Given the description of an element on the screen output the (x, y) to click on. 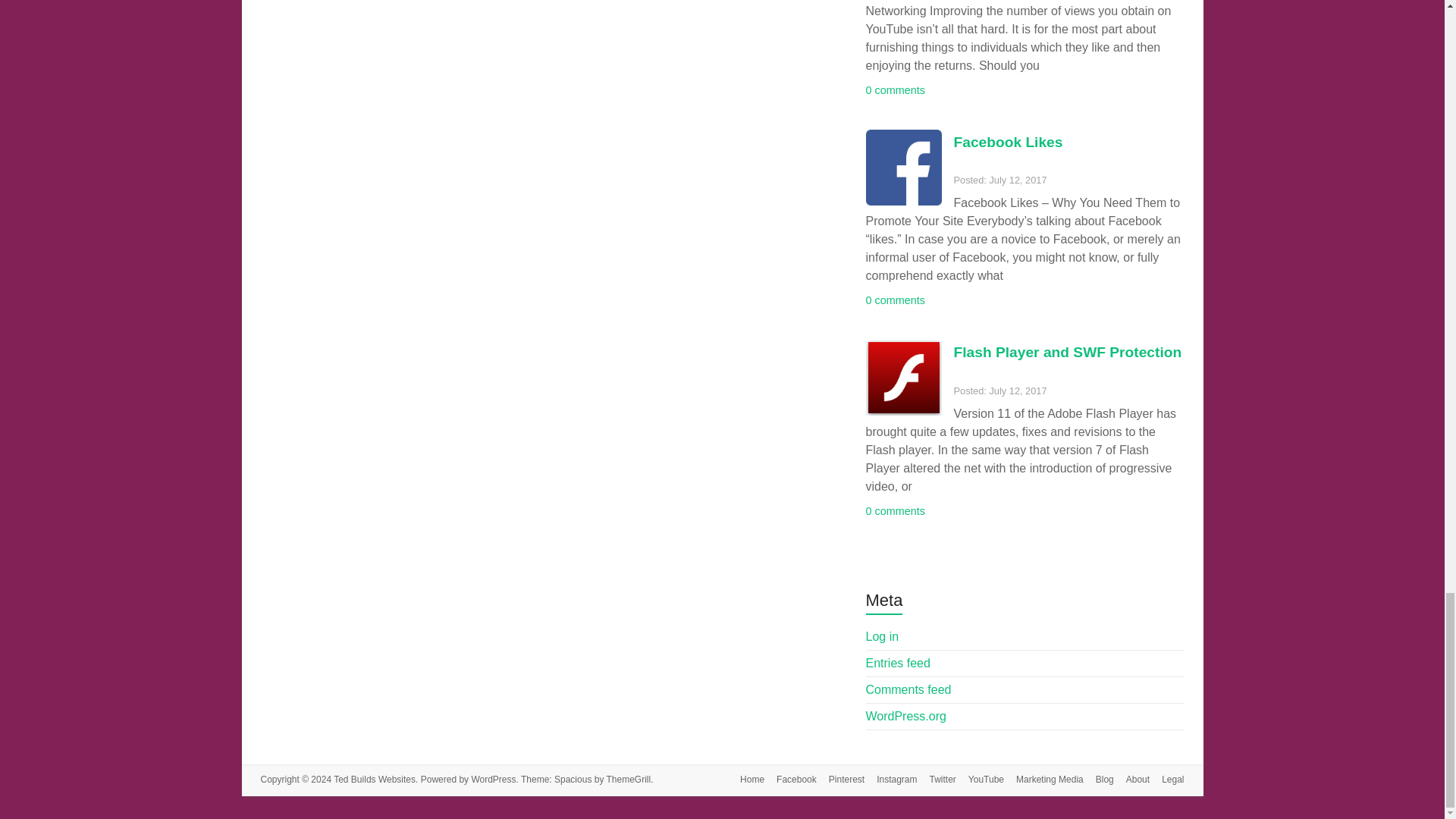
WordPress (492, 778)
Ted Builds Websites (373, 778)
0 comments (895, 90)
ThemeGrill (628, 778)
Facebook Likes (1007, 141)
